Given the description of an element on the screen output the (x, y) to click on. 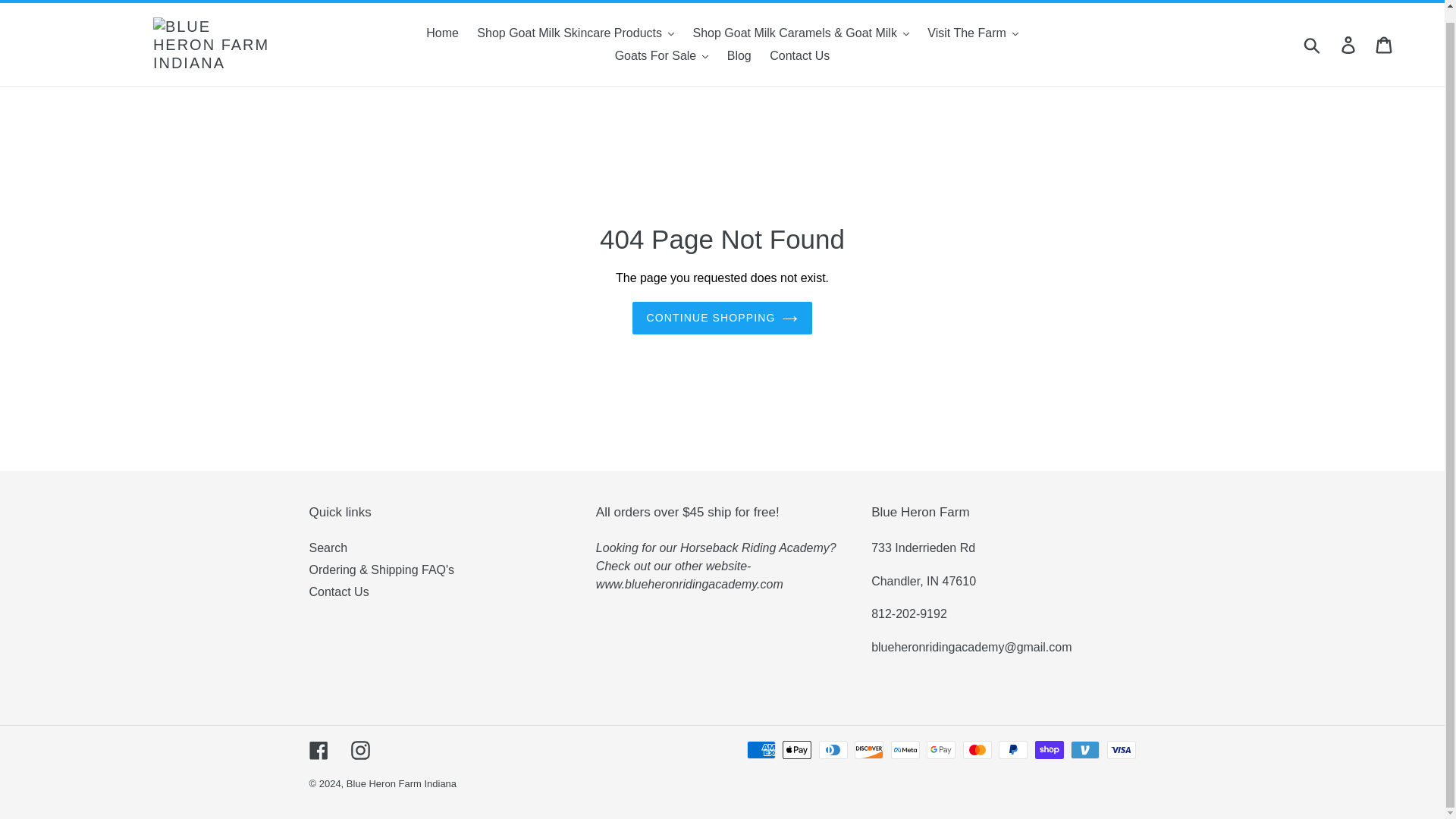
Home (442, 33)
Log in (1349, 44)
Submit (1313, 44)
Blog (738, 56)
Cart (1385, 44)
Contact Us (799, 56)
